Given the description of an element on the screen output the (x, y) to click on. 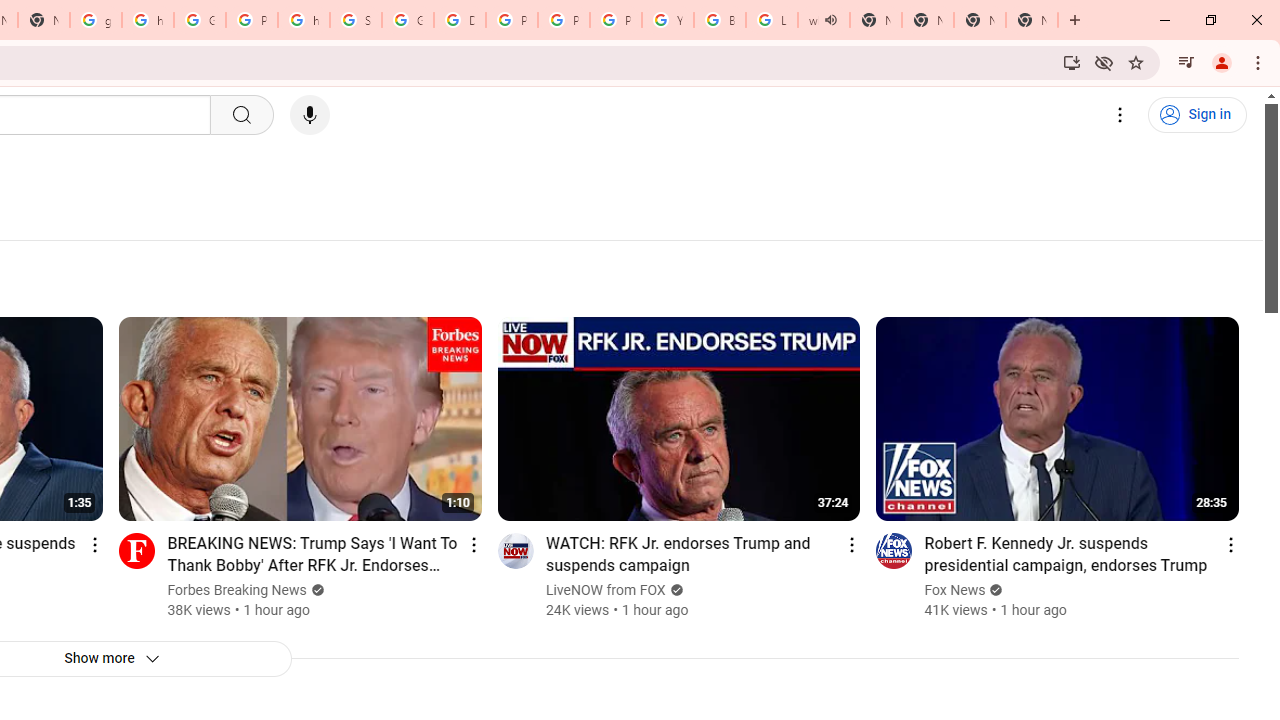
Forbes Breaking News (237, 590)
https://scholar.google.com/ (303, 20)
Install YouTube (1071, 62)
Go to channel (893, 550)
